Given the description of an element on the screen output the (x, y) to click on. 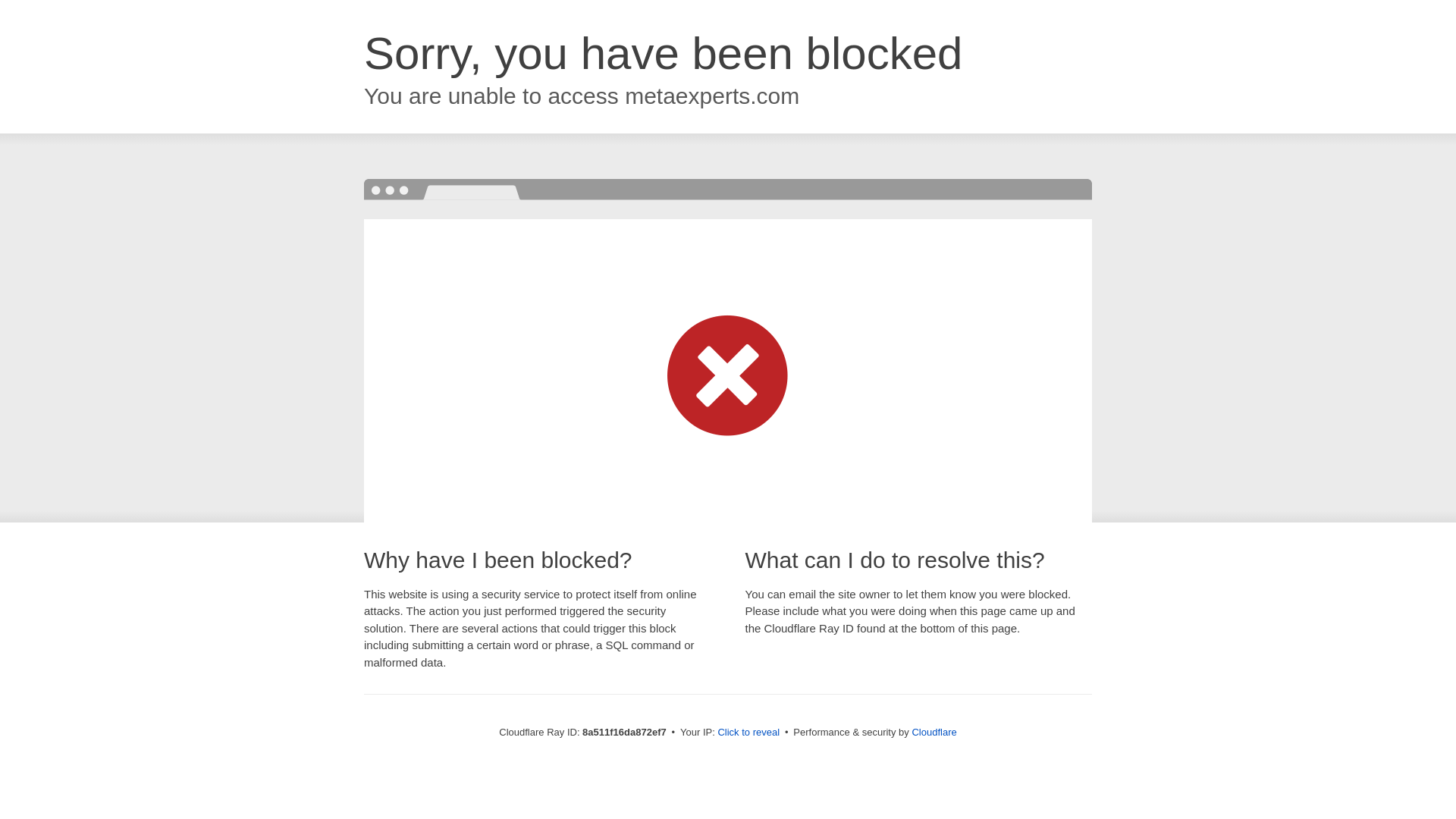
Cloudflare (933, 731)
Click to reveal (747, 732)
